Given the description of an element on the screen output the (x, y) to click on. 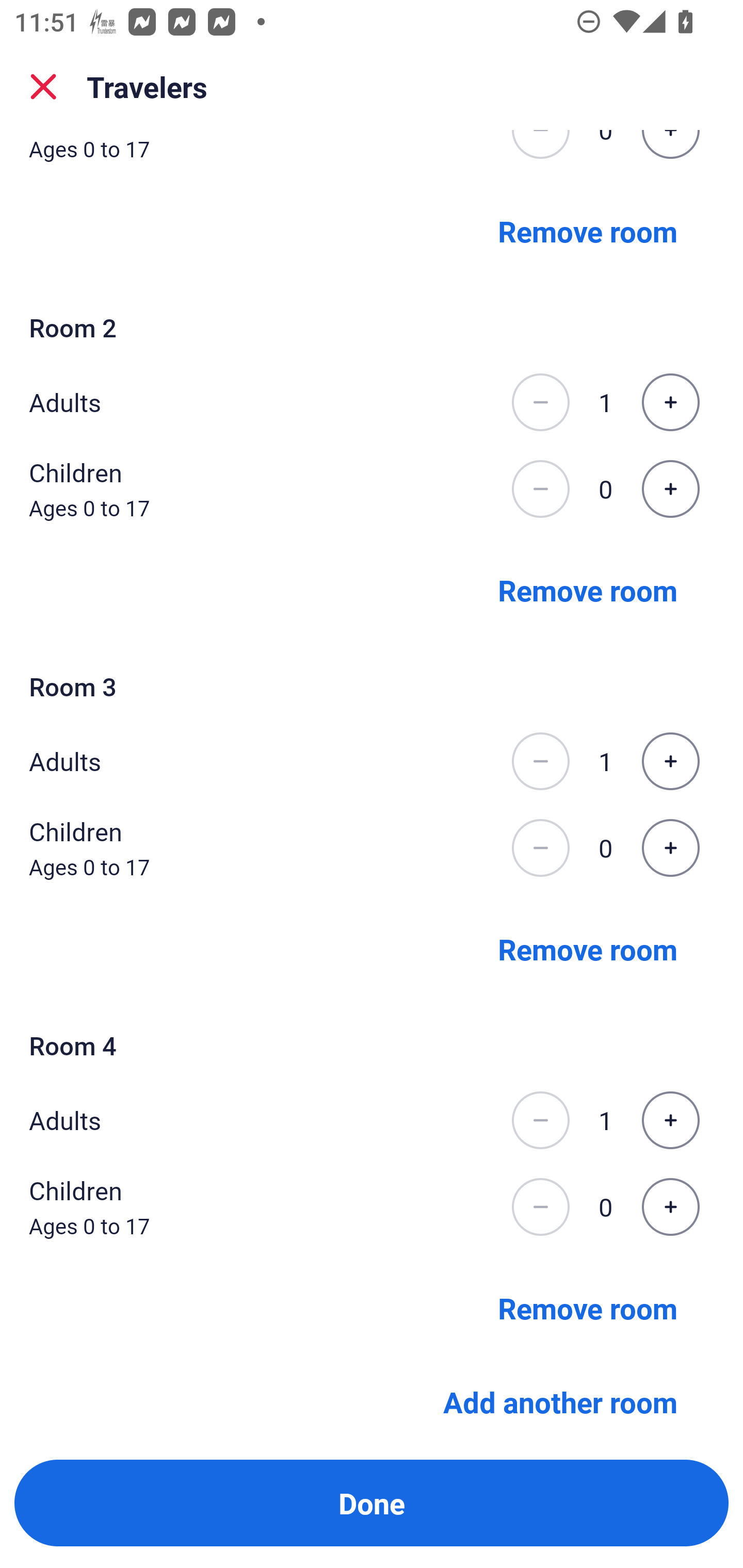
close (43, 86)
Remove room (588, 231)
Decrease the number of adults (540, 402)
Increase the number of adults (670, 402)
Decrease the number of children (540, 488)
Increase the number of children (670, 488)
Remove room (588, 590)
Decrease the number of adults (540, 761)
Increase the number of adults (670, 761)
Decrease the number of children (540, 847)
Increase the number of children (670, 847)
Remove room (588, 949)
Decrease the number of adults (540, 1120)
Increase the number of adults (670, 1120)
Decrease the number of children (540, 1206)
Increase the number of children (670, 1206)
Remove room (588, 1308)
Add another room (560, 1397)
Done (371, 1502)
